Given the description of an element on the screen output the (x, y) to click on. 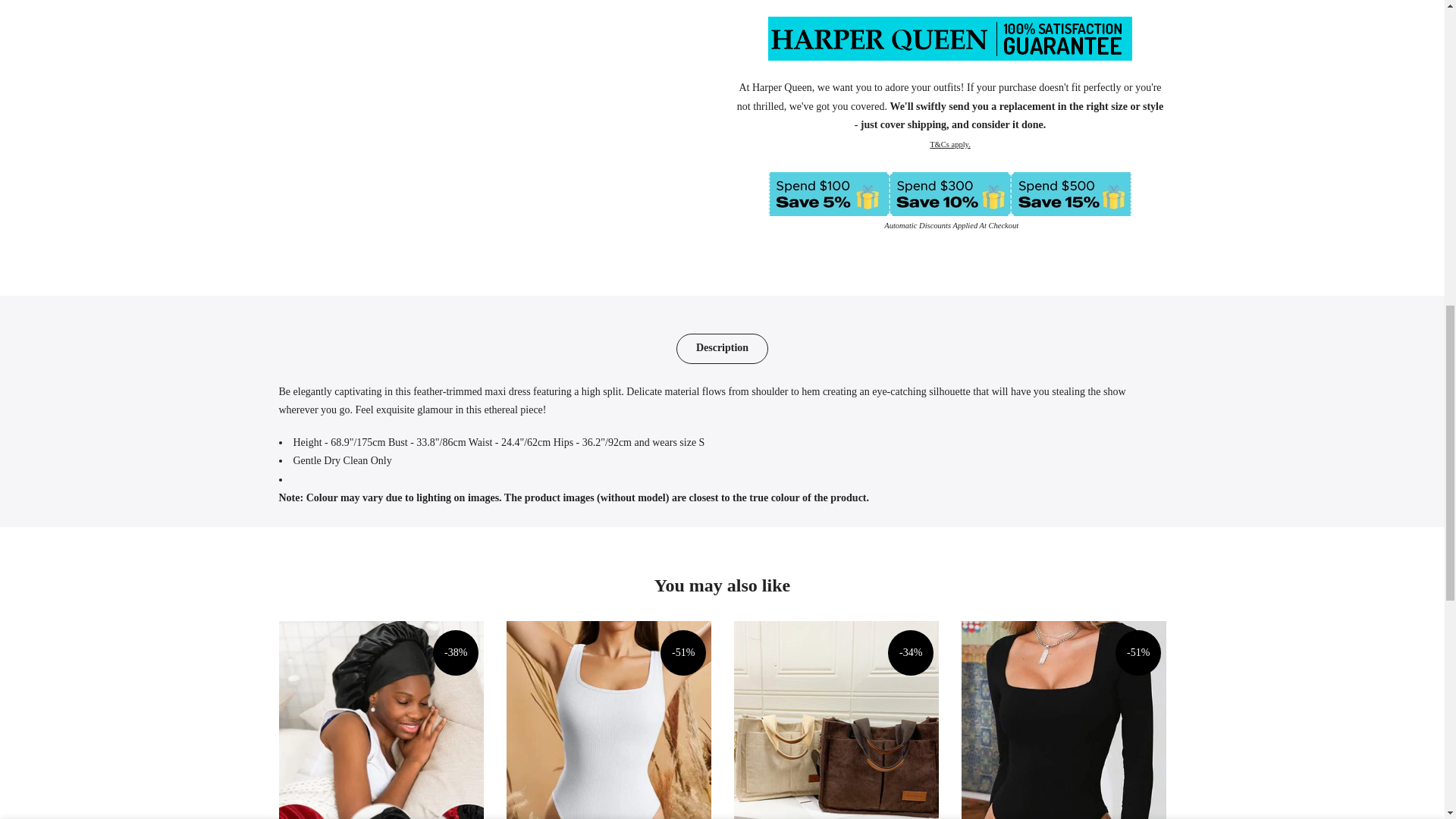
1 (1001, 35)
